Given the description of an element on the screen output the (x, y) to click on. 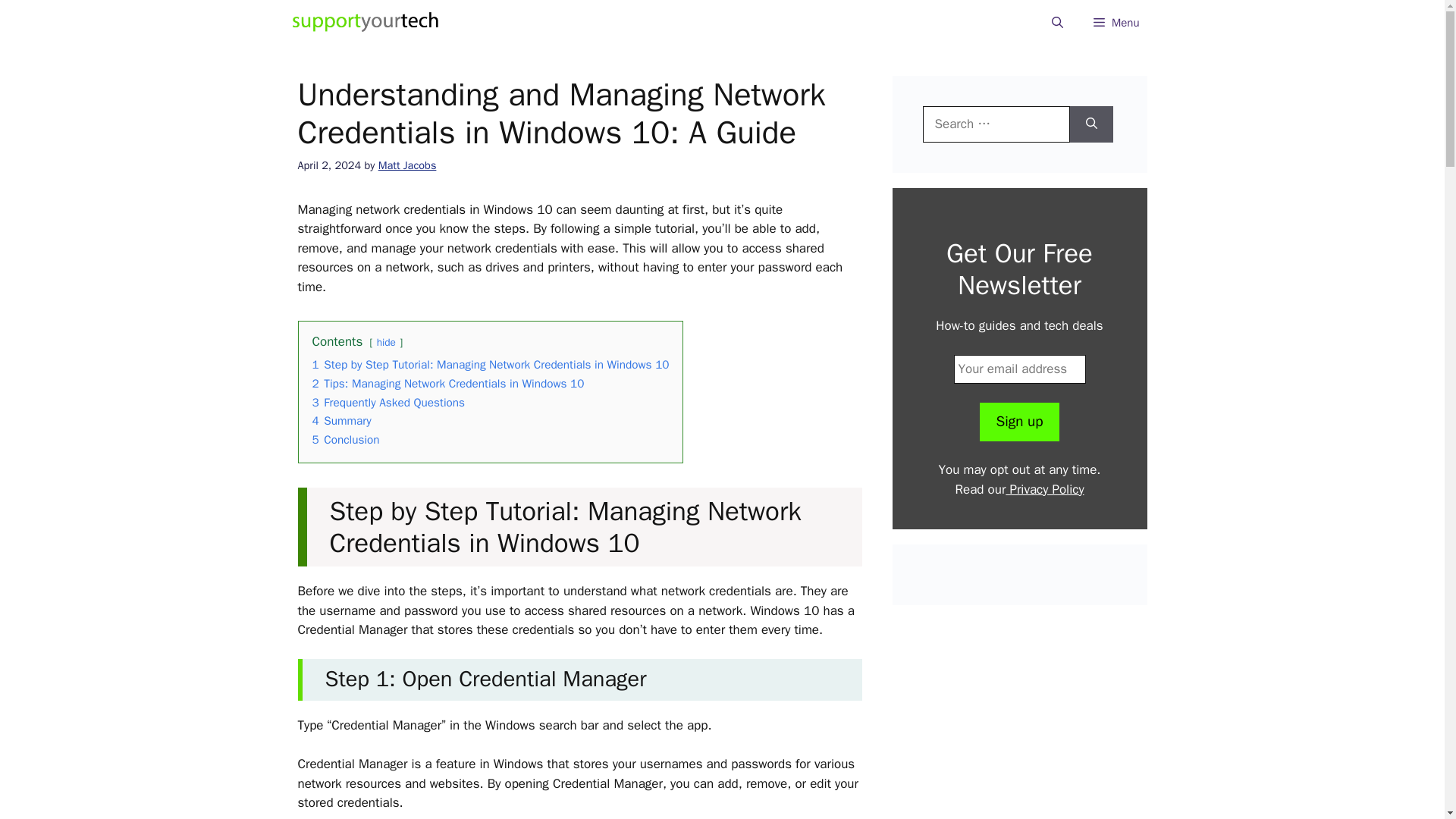
5 Conclusion (346, 439)
4 Summary (342, 420)
3 Frequently Asked Questions (389, 402)
Support Your Tech (365, 22)
Matt Jacobs (407, 164)
Sign up (1018, 421)
Menu (1116, 22)
2 Tips: Managing Network Credentials in Windows 10 (449, 383)
hide (386, 341)
